Given the description of an element on the screen output the (x, y) to click on. 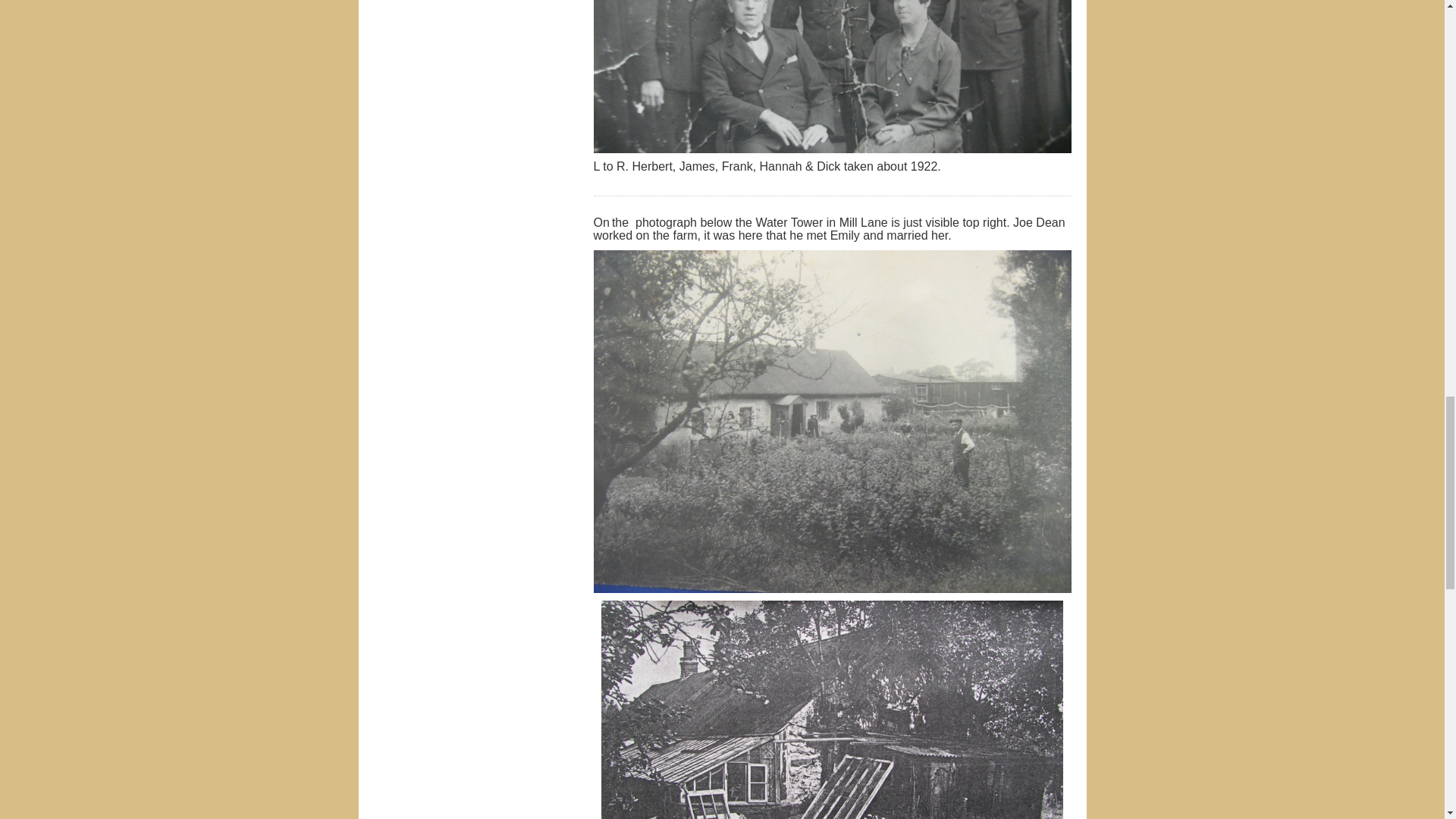
Dutton's Farm (832, 709)
Dutton's Farm (831, 709)
